Given the description of an element on the screen output the (x, y) to click on. 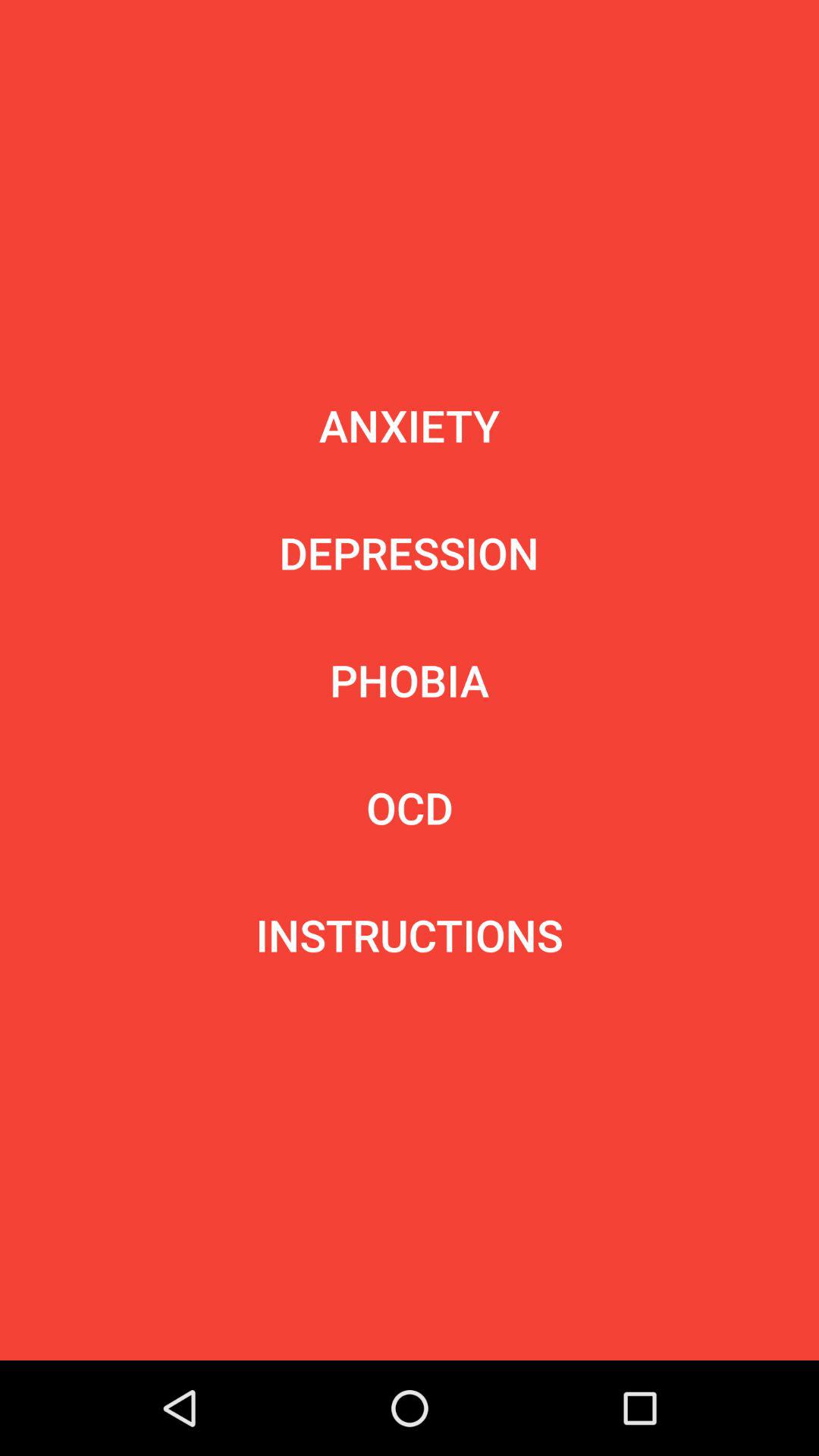
open instructions item (409, 934)
